Given the description of an element on the screen output the (x, y) to click on. 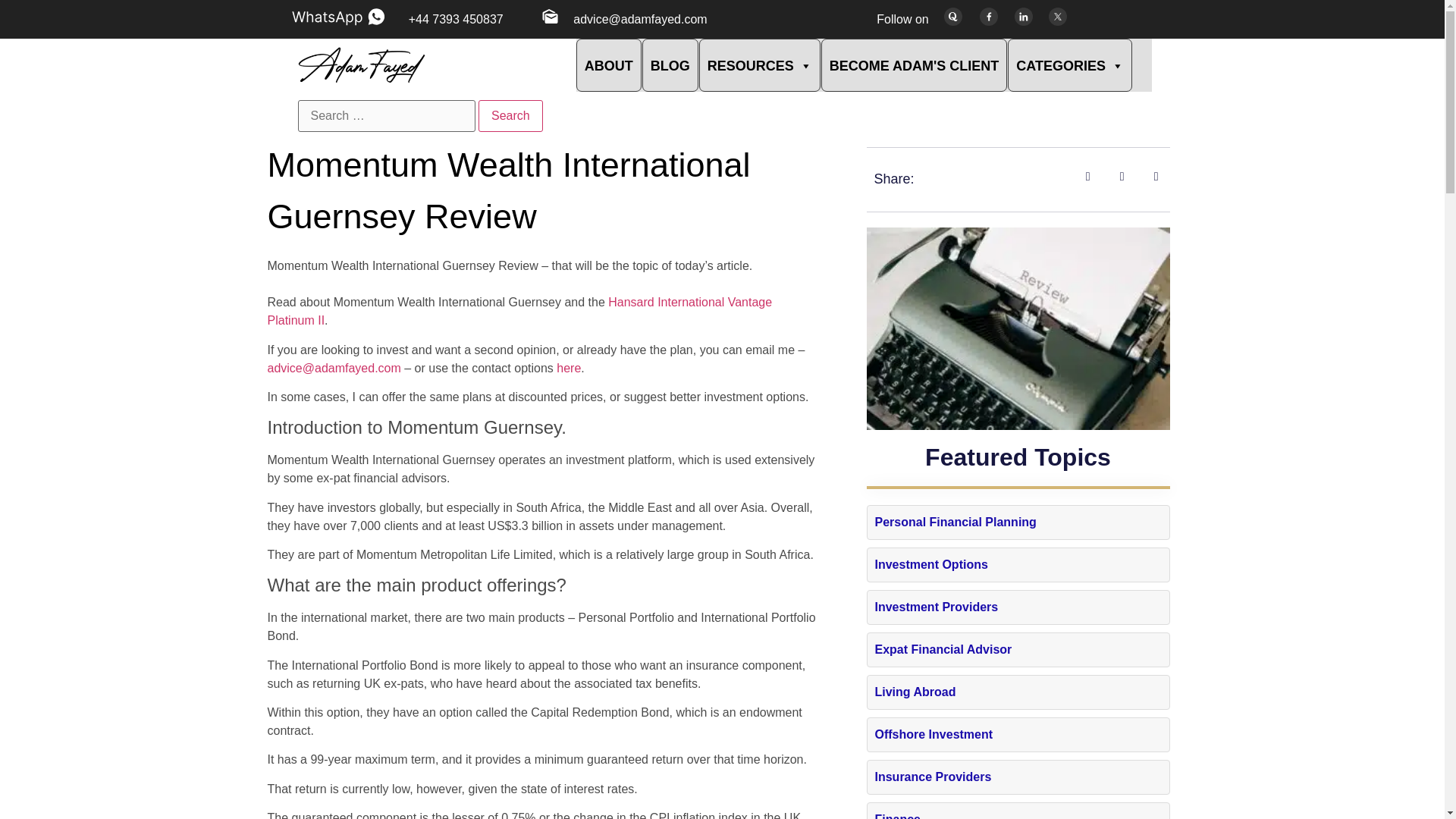
Search (511, 115)
BLOG (670, 64)
Search (511, 115)
BECOME ADAM'S CLIENT (914, 64)
Search (511, 115)
RESOURCES (759, 64)
Hansard International Vantage Platinum II (518, 310)
ABOUT (609, 64)
here (568, 367)
CATEGORIES (1069, 64)
